Given the description of an element on the screen output the (x, y) to click on. 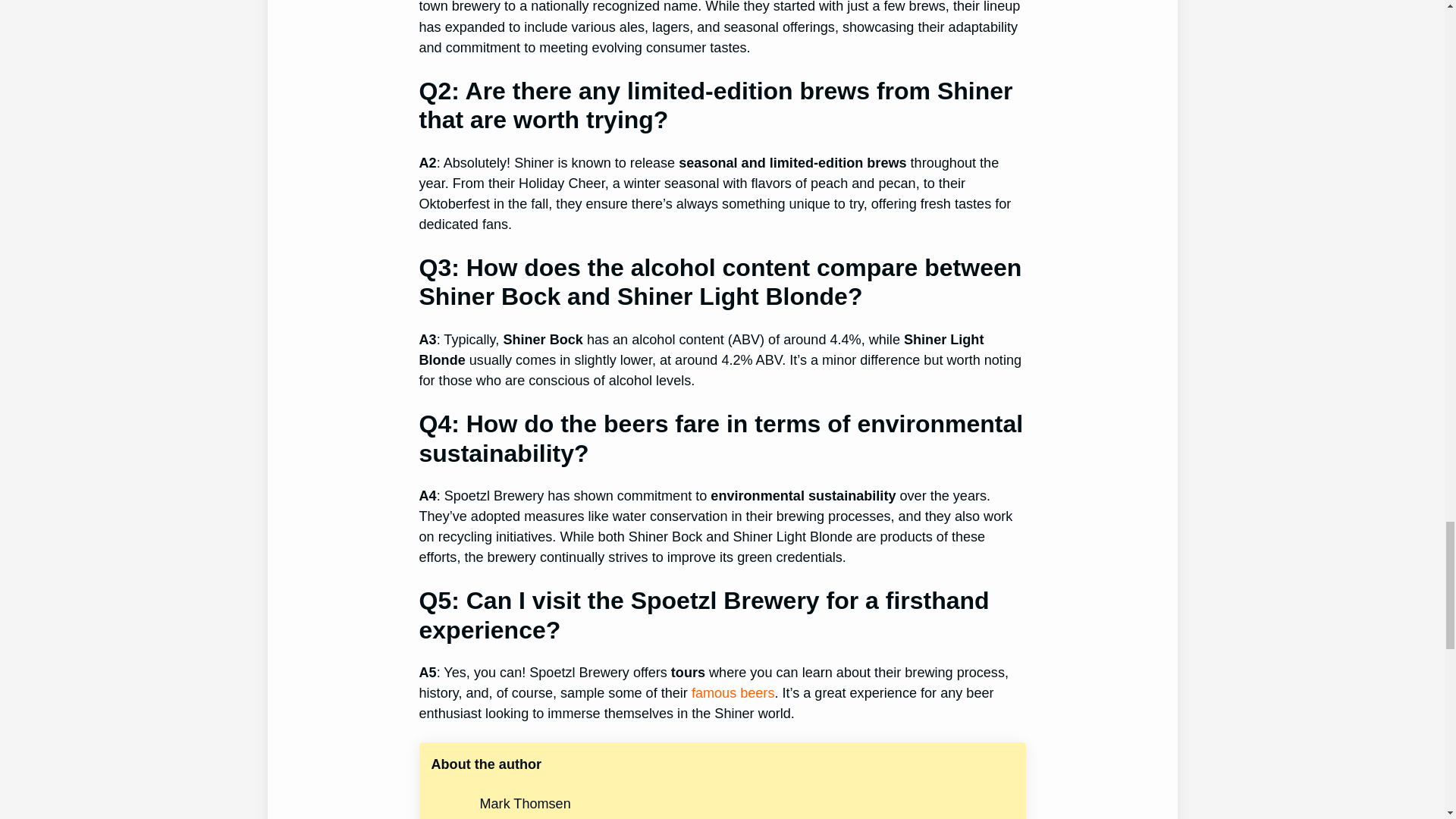
famous beers (732, 693)
